Given the description of an element on the screen output the (x, y) to click on. 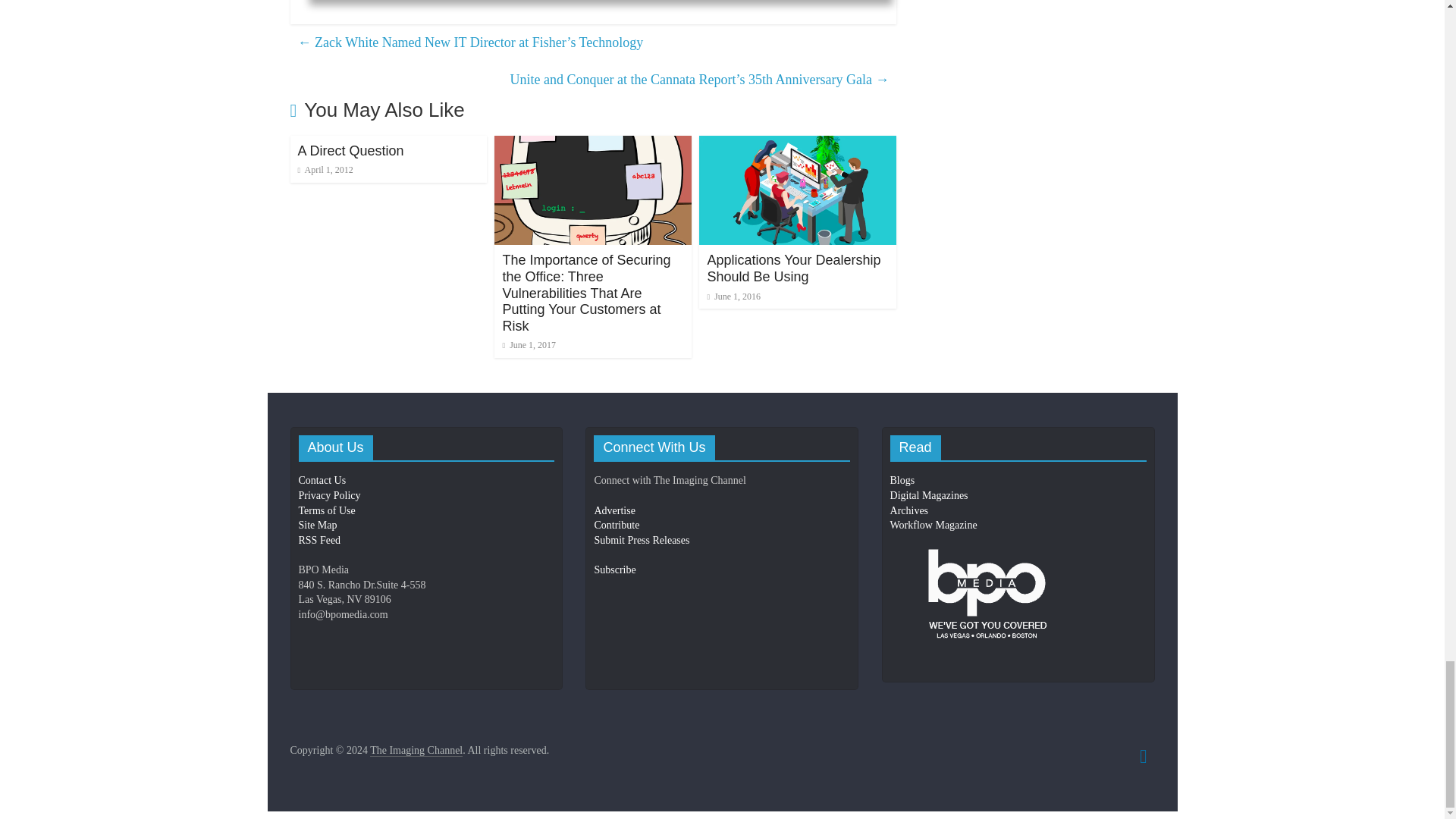
A Direct Question (350, 150)
10:13 am (324, 169)
2:04 pm (529, 344)
